Given the description of an element on the screen output the (x, y) to click on. 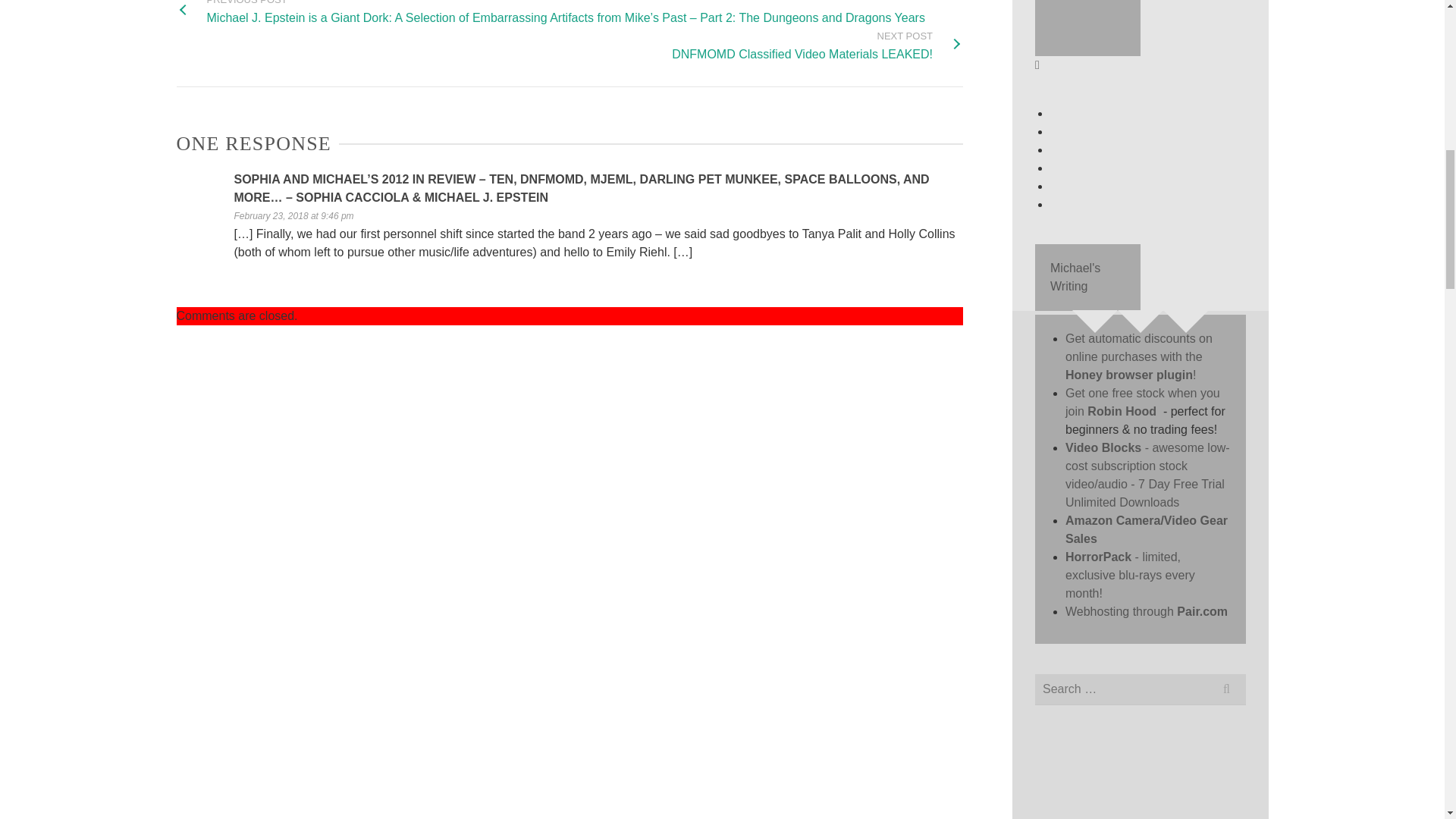
February 23, 2018 at 9:46 pm (292, 215)
